Given the description of an element on the screen output the (x, y) to click on. 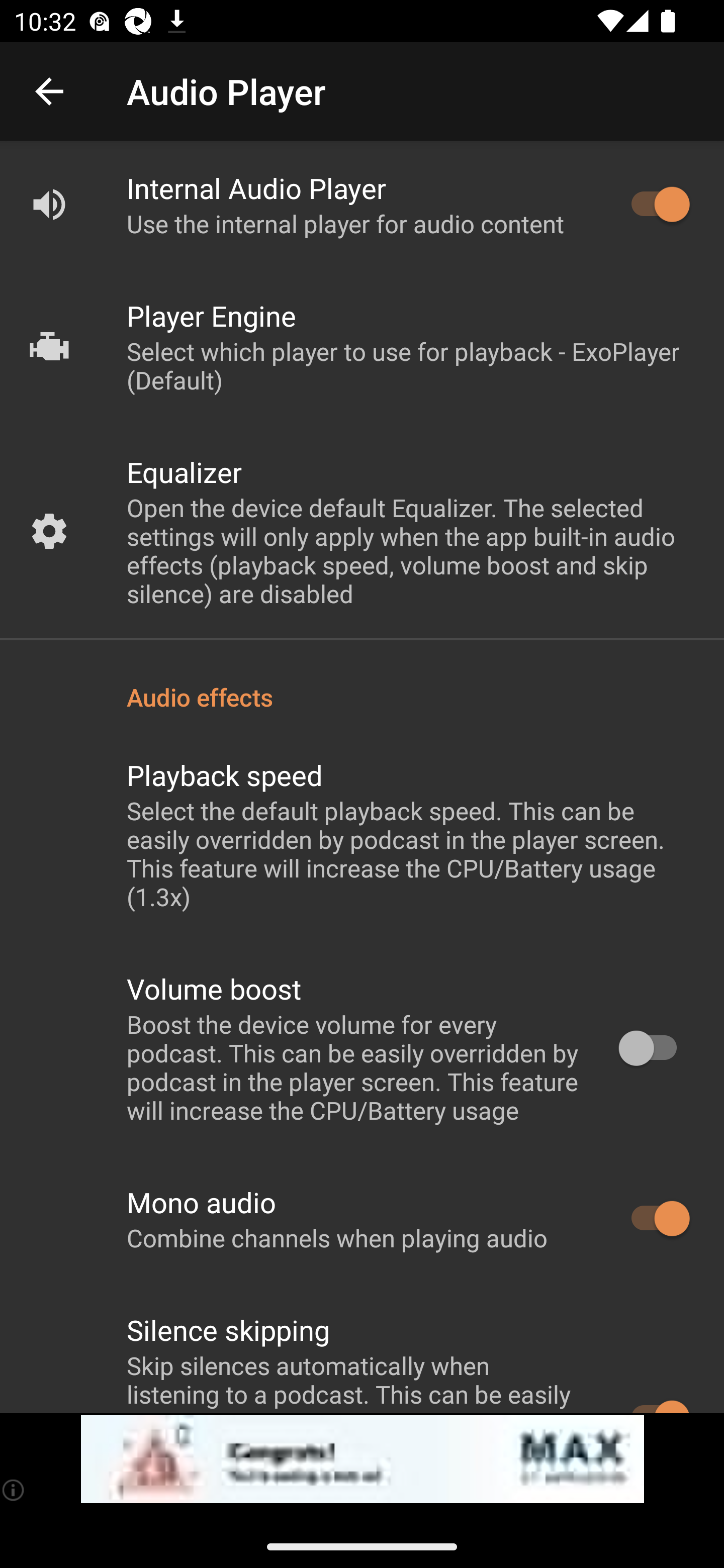
Navigate up (49, 91)
Mono audio Combine channels when playing audio (362, 1218)
app-monetization (362, 1459)
(i) (14, 1489)
